Given the description of an element on the screen output the (x, y) to click on. 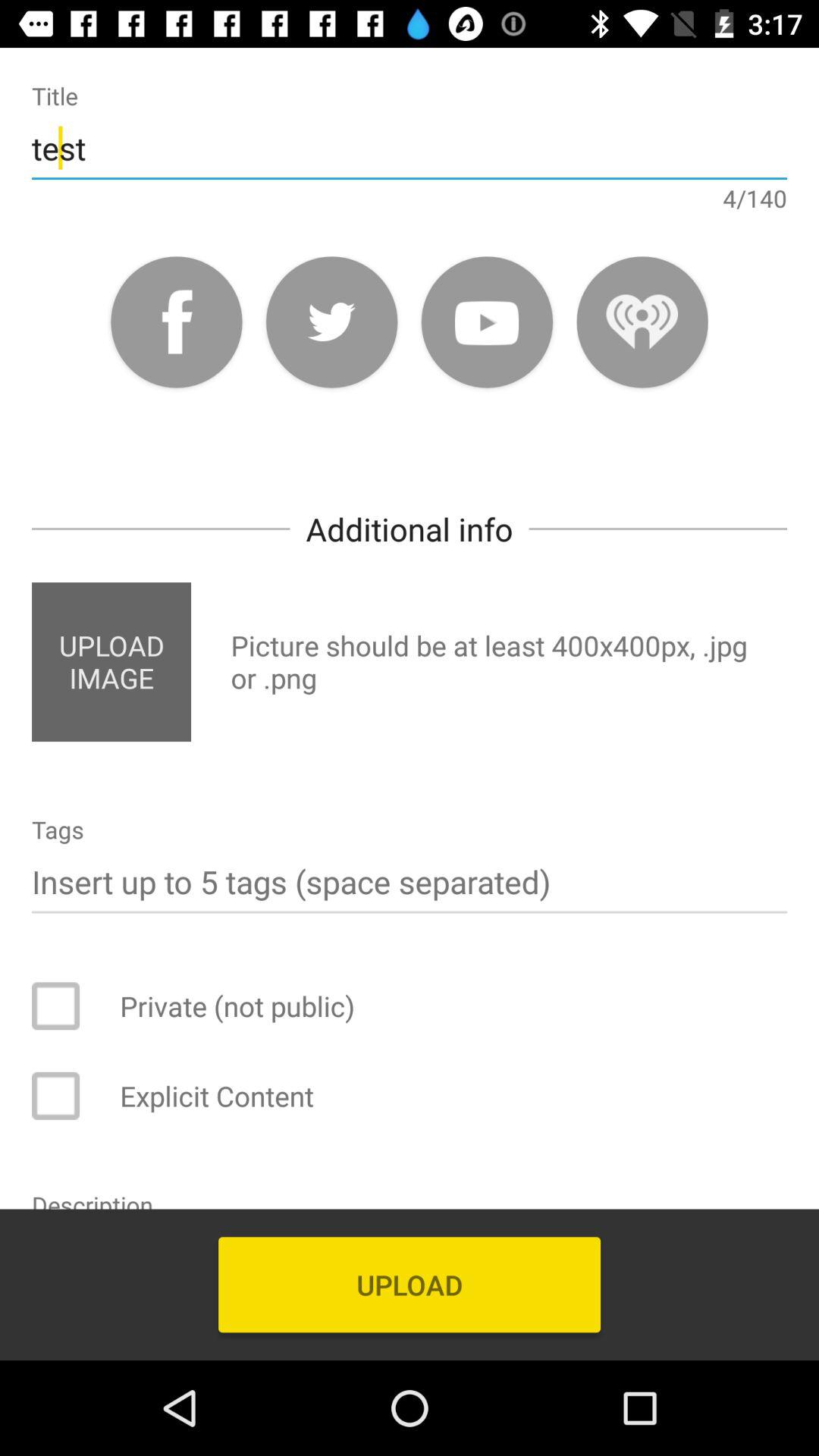
checkbox for selecting private (65, 1006)
